Given the description of an element on the screen output the (x, y) to click on. 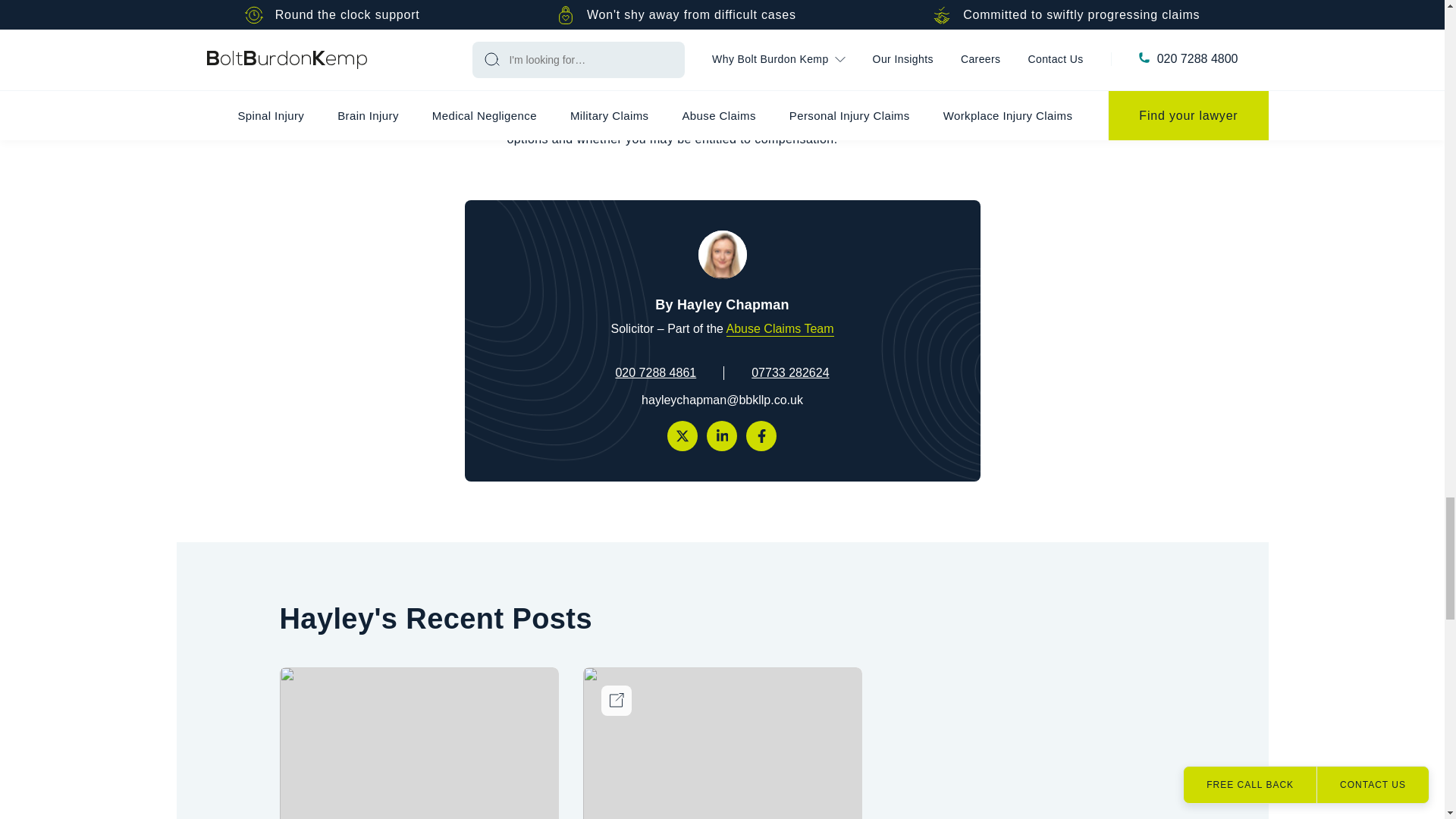
Deepfake content (721, 742)
Hayley Chapman (721, 255)
